Given the description of an element on the screen output the (x, y) to click on. 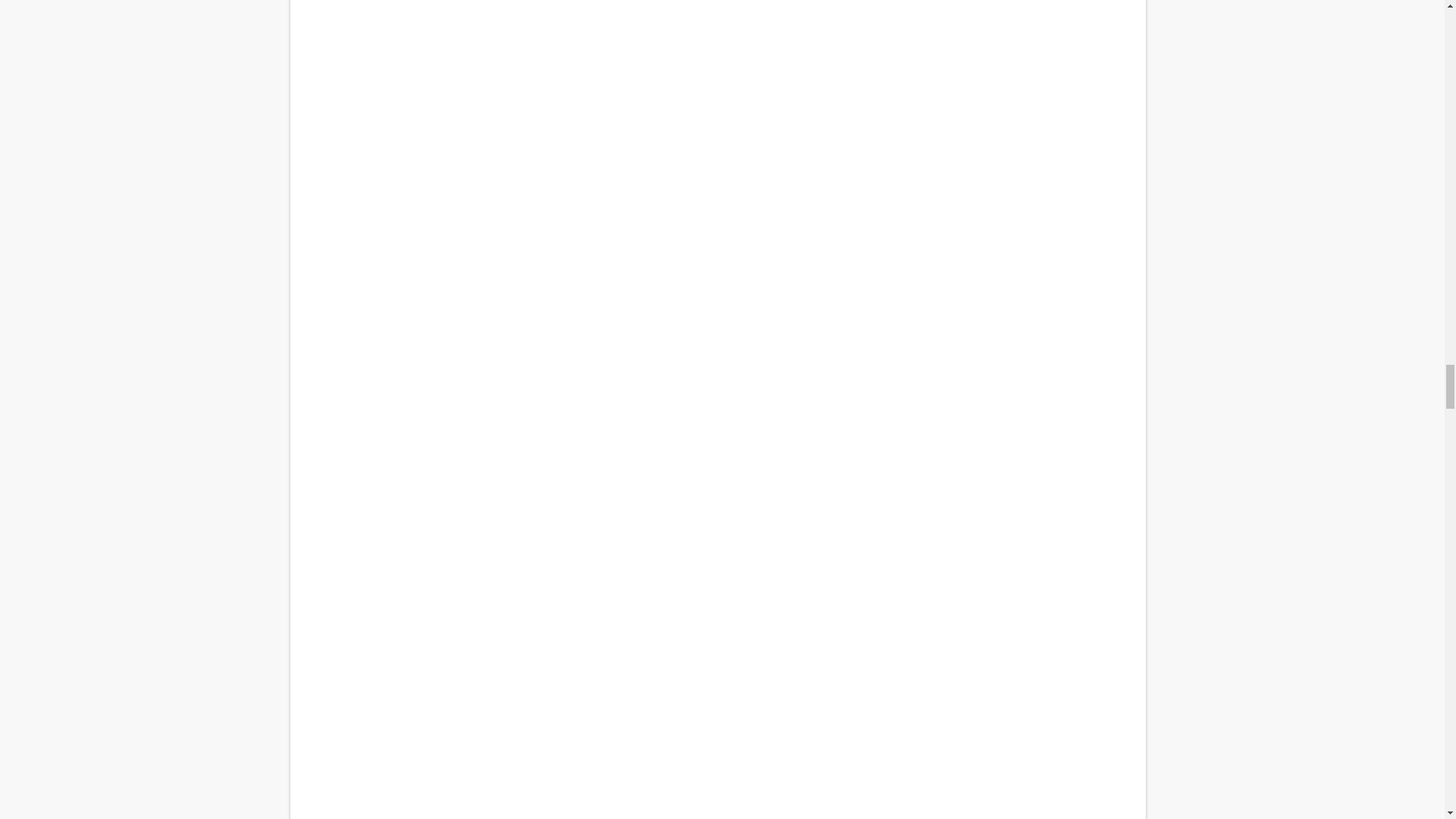
Topic Wise Words (717, 730)
